Given the description of an element on the screen output the (x, y) to click on. 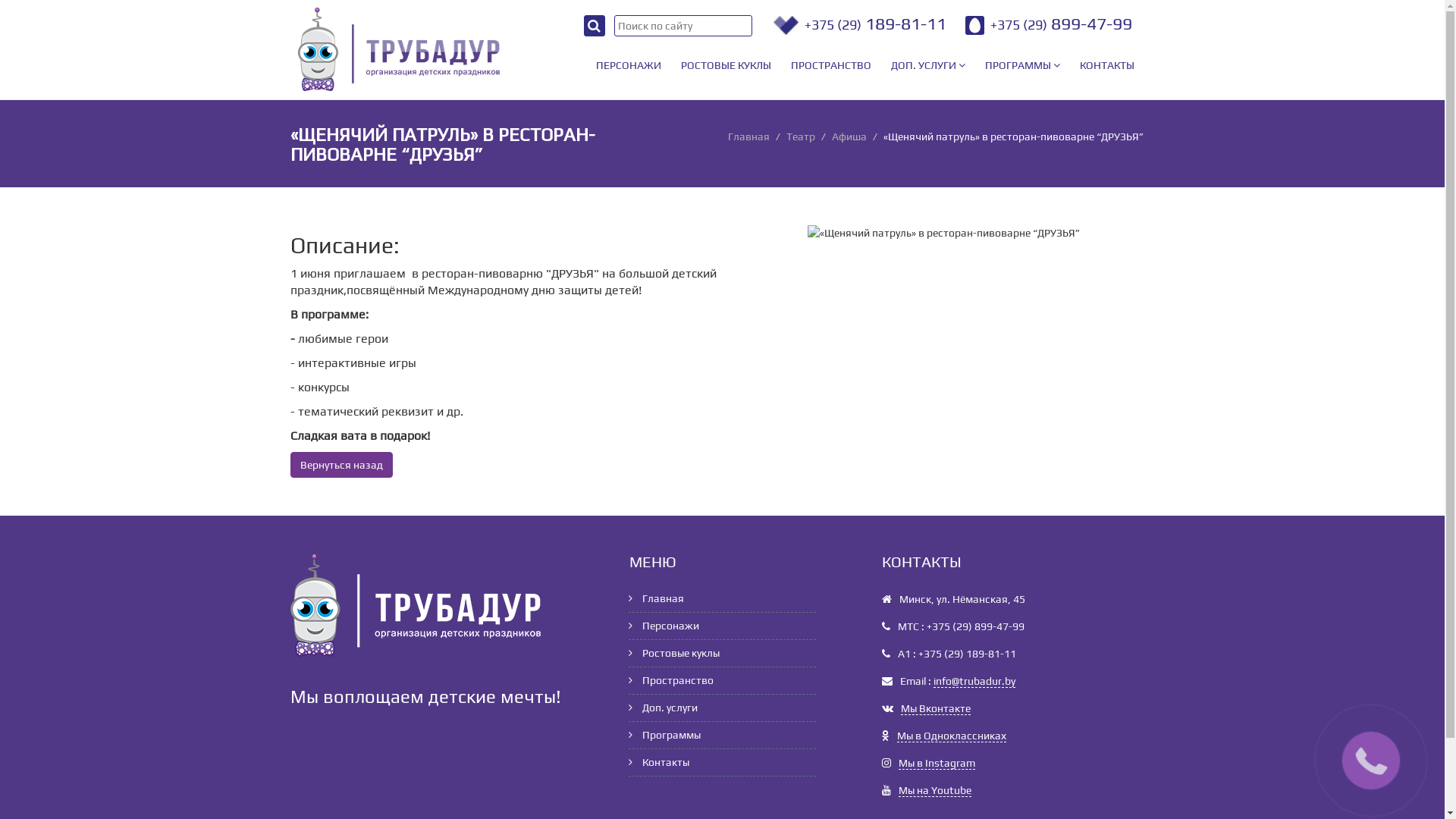
info@trubadur.by Element type: text (973, 680)
